Given the description of an element on the screen output the (x, y) to click on. 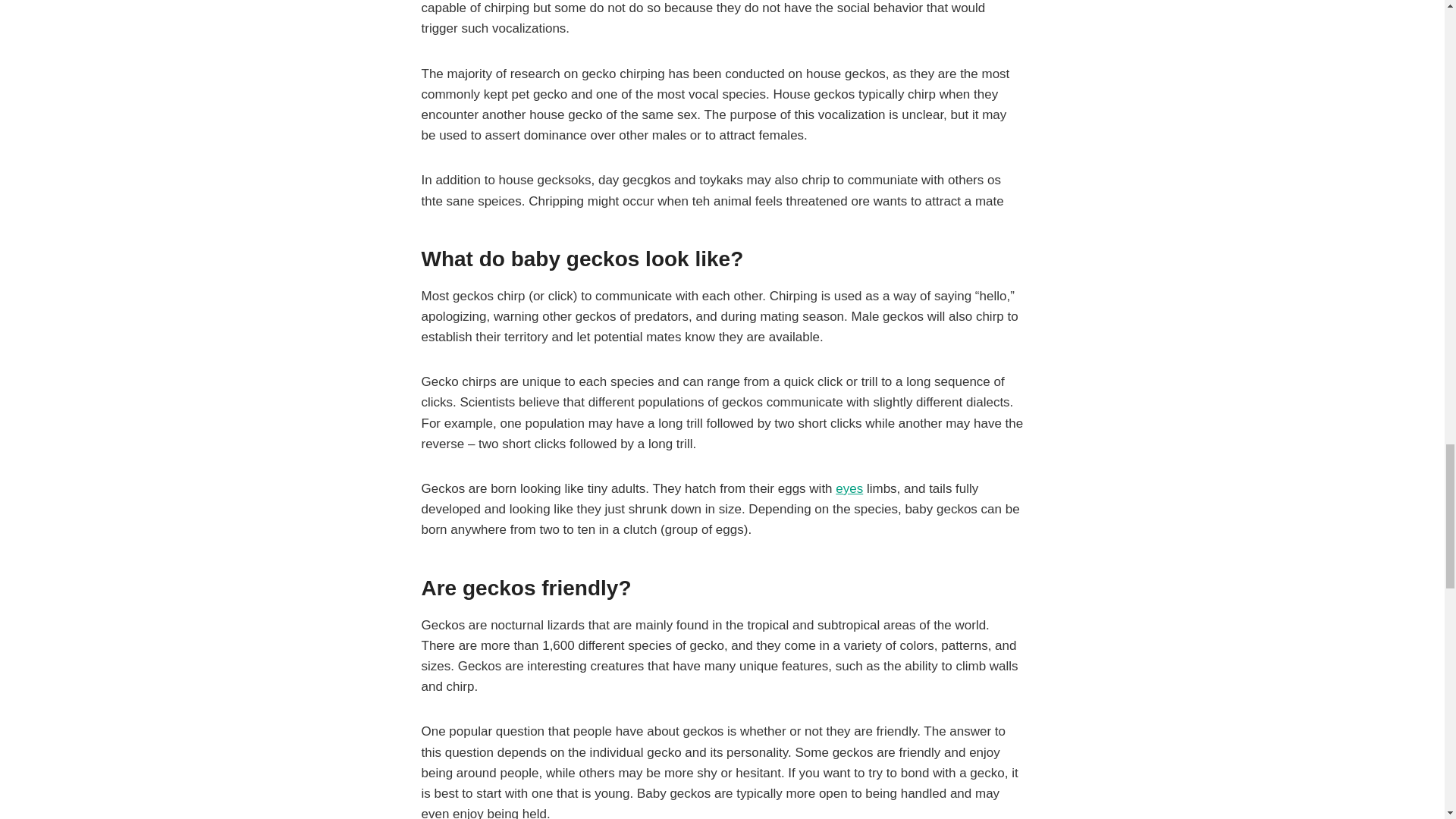
eyes (849, 488)
